Given the description of an element on the screen output the (x, y) to click on. 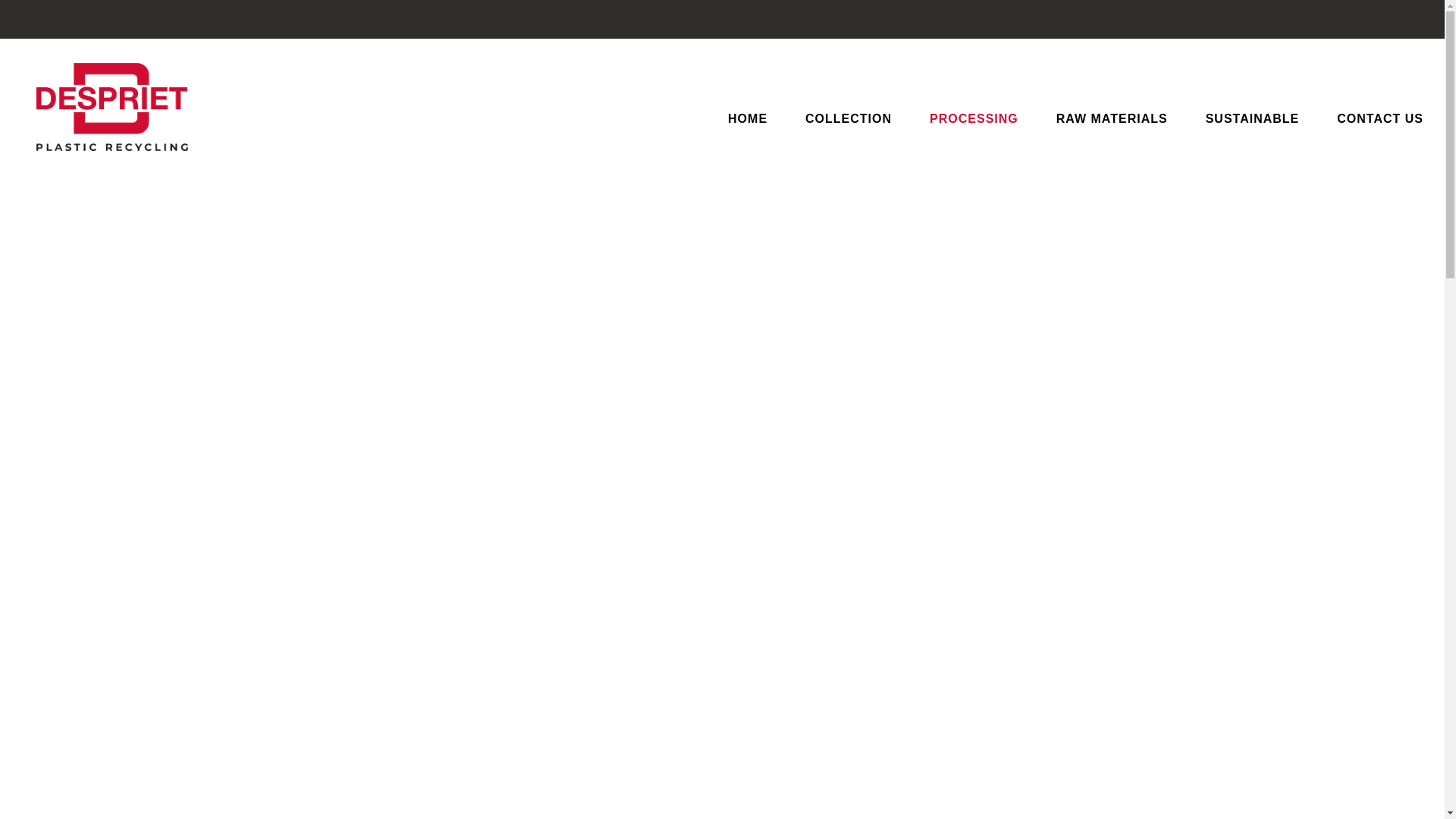
PROCESSING (973, 122)
RAW MATERIALS (1112, 122)
COLLECTION (848, 122)
Despriet Plastic Recycling (111, 106)
CONTACT US (1379, 122)
HOME (747, 122)
SUSTAINABLE (1252, 122)
